Given the description of an element on the screen output the (x, y) to click on. 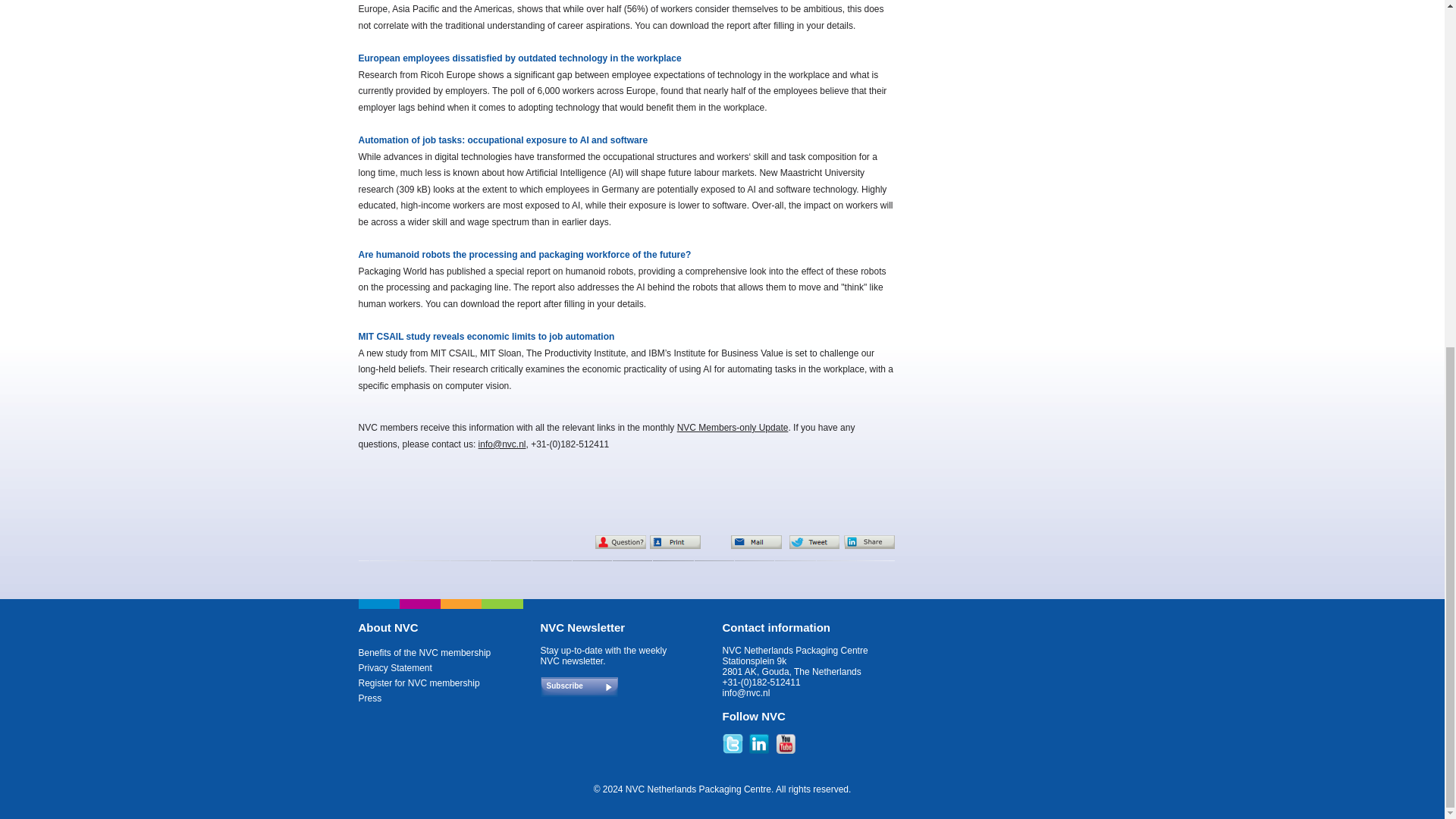
NVC Members-only Update (733, 427)
